Given the description of an element on the screen output the (x, y) to click on. 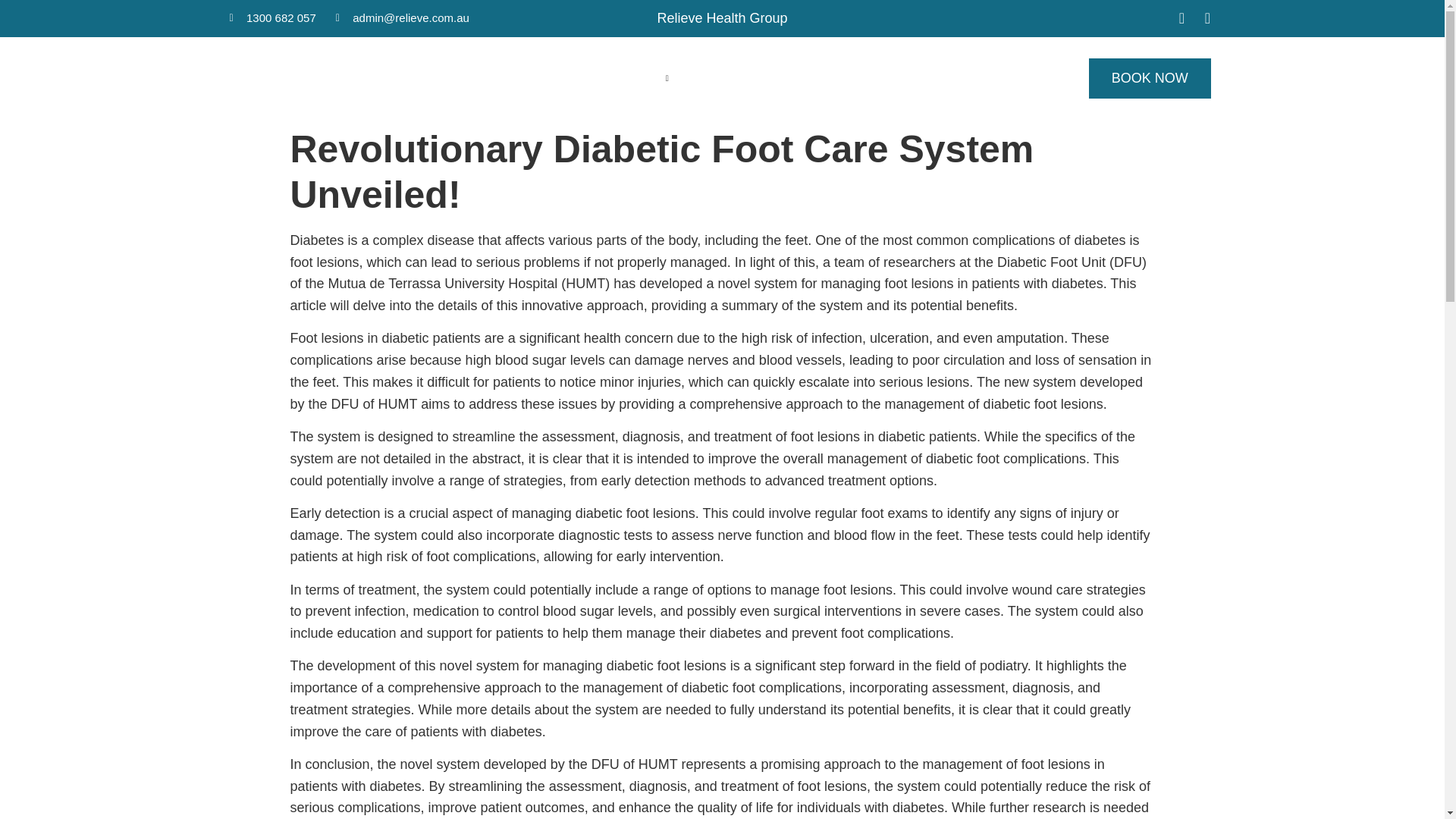
Home (515, 78)
Education (800, 78)
Podiatry (723, 78)
BOOK NOW (1150, 78)
Refer A Patient (980, 78)
Contact Us (883, 78)
Surgery (646, 78)
About (575, 78)
